Given the description of an element on the screen output the (x, y) to click on. 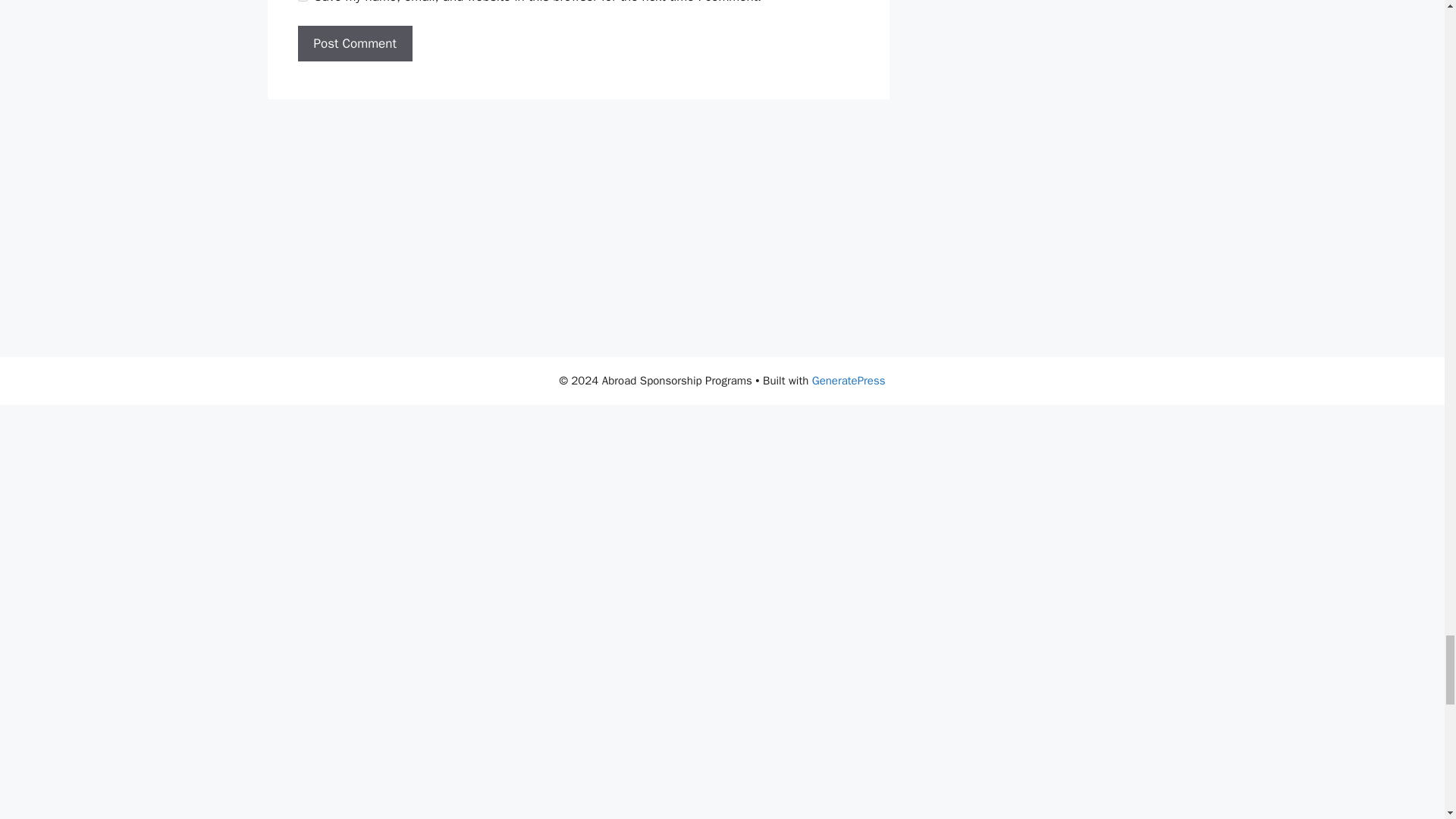
GeneratePress (848, 380)
Post Comment (354, 43)
Post Comment (354, 43)
